Given the description of an element on the screen output the (x, y) to click on. 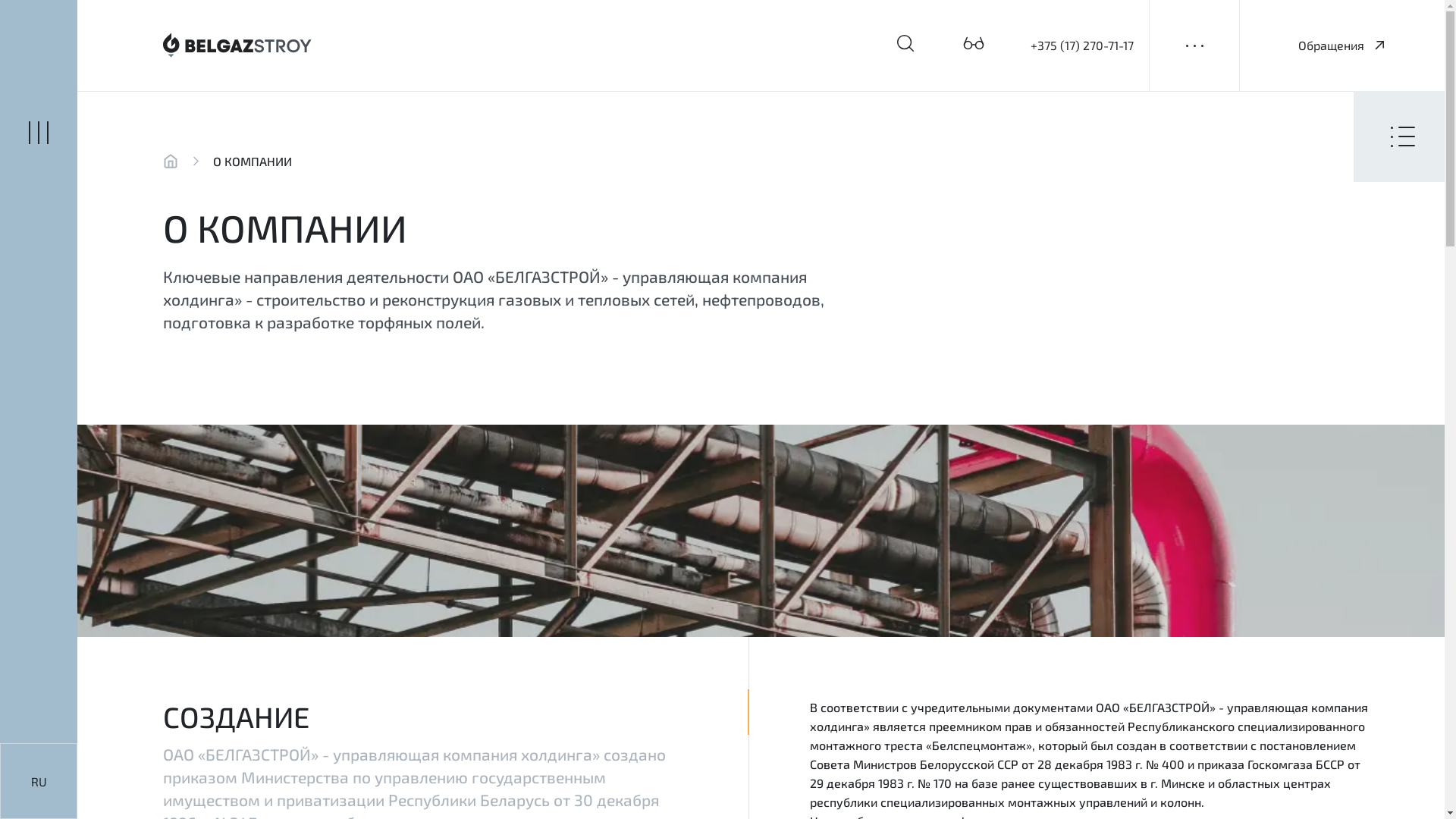
+375 (17) 270-71-17 Element type: text (1081, 44)
+ 375 (17) 270-71-17 Element type: text (1351, 113)
priemnaya@belgazstroy.by Element type: text (1371, 113)
